Given the description of an element on the screen output the (x, y) to click on. 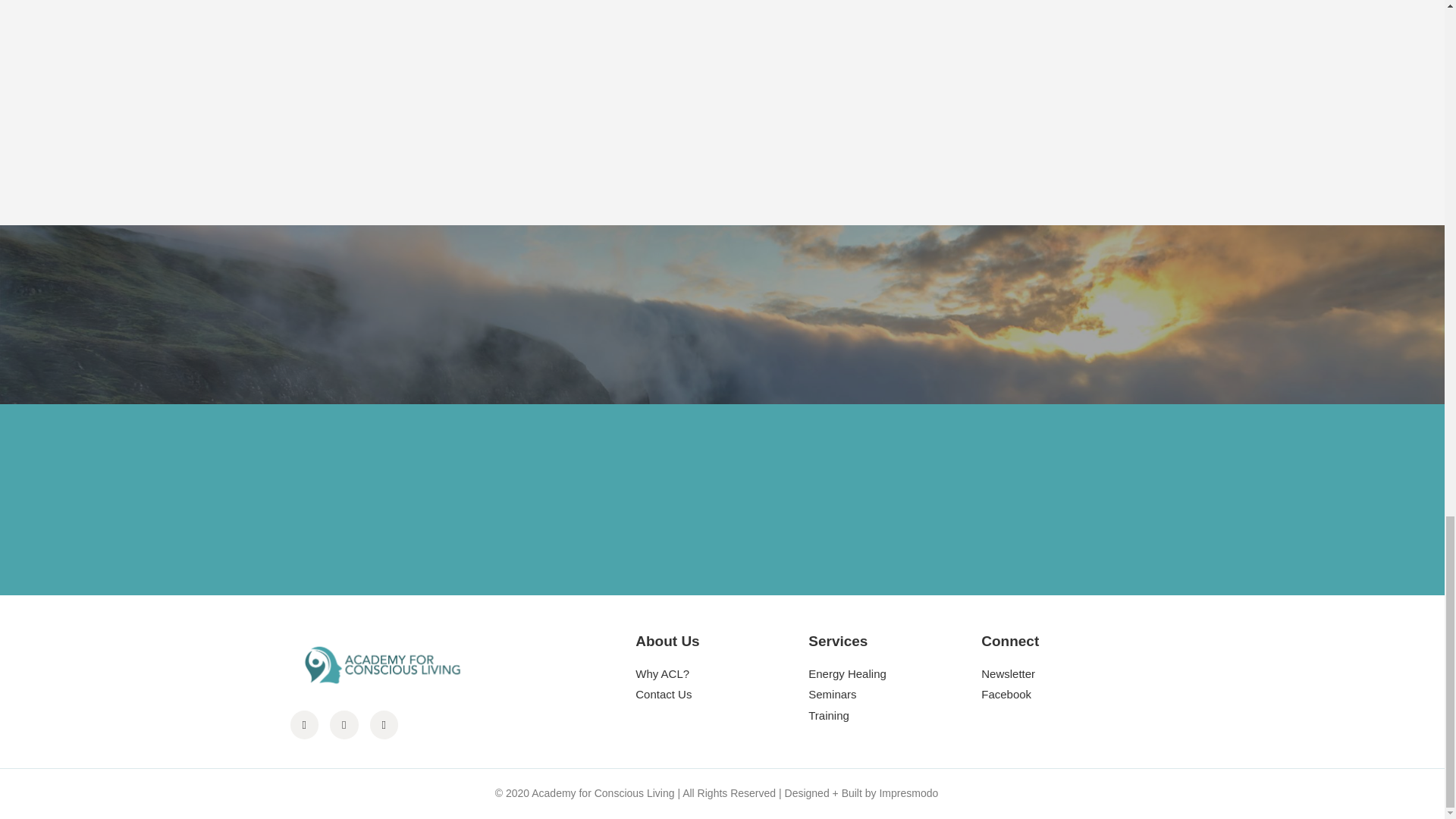
Contact Us (721, 694)
Newsletter (1067, 674)
Energy Healing (894, 674)
Training (894, 715)
Seminars (894, 694)
Why ACL? (721, 674)
